Given the description of an element on the screen output the (x, y) to click on. 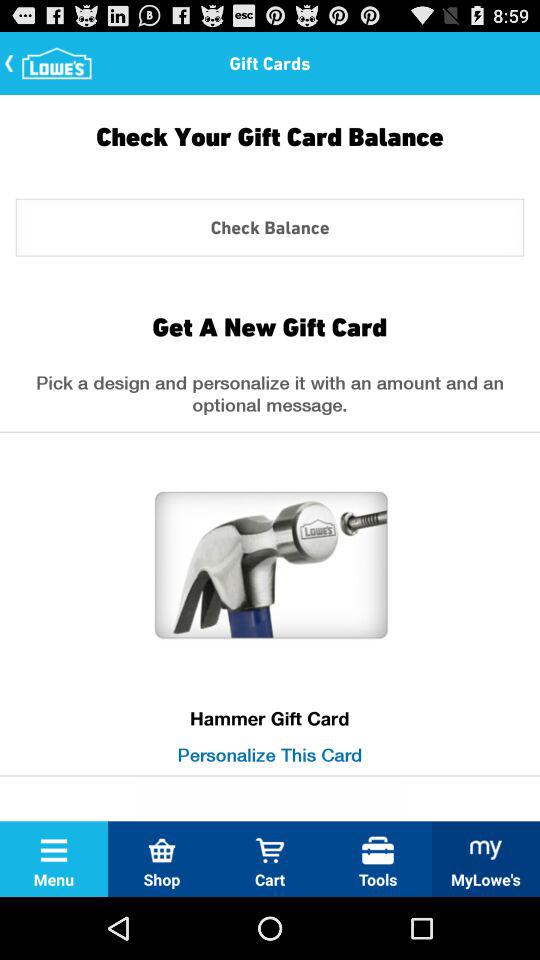
click on the icon mylowes (485, 850)
click on the icon above the text tools (377, 850)
select the option check balance (269, 227)
